Given the description of an element on the screen output the (x, y) to click on. 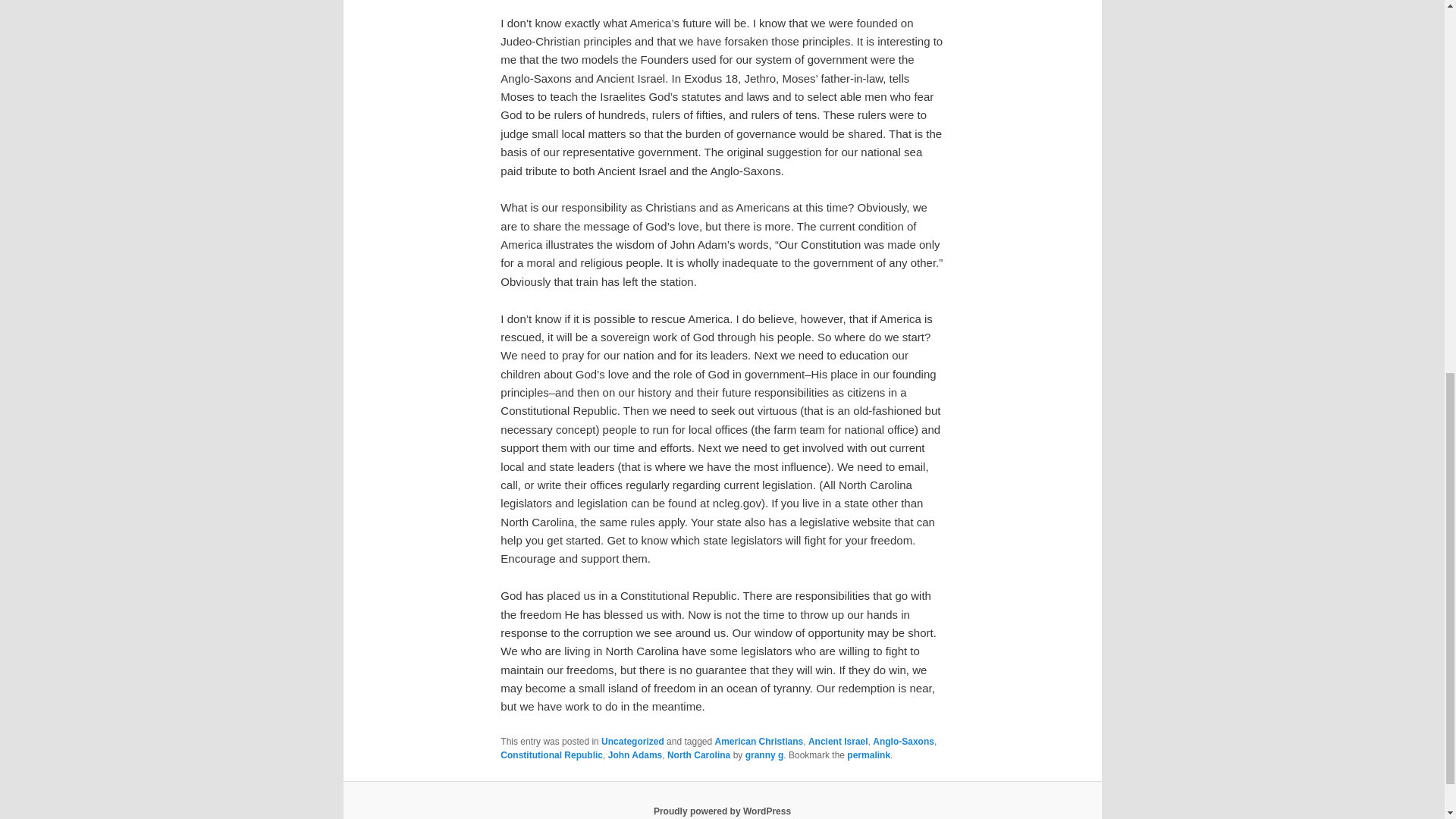
Proudly powered by WordPress (721, 810)
John Adams (635, 755)
Constitutional Republic (551, 755)
Ancient Israel (837, 741)
North Carolina (698, 755)
Semantic Personal Publishing Platform (721, 810)
Uncategorized (632, 741)
Anglo-Saxons (903, 741)
Permalink to A Message To American Christians (868, 755)
permalink (868, 755)
granny g (764, 755)
American Christians (758, 741)
